Given the description of an element on the screen output the (x, y) to click on. 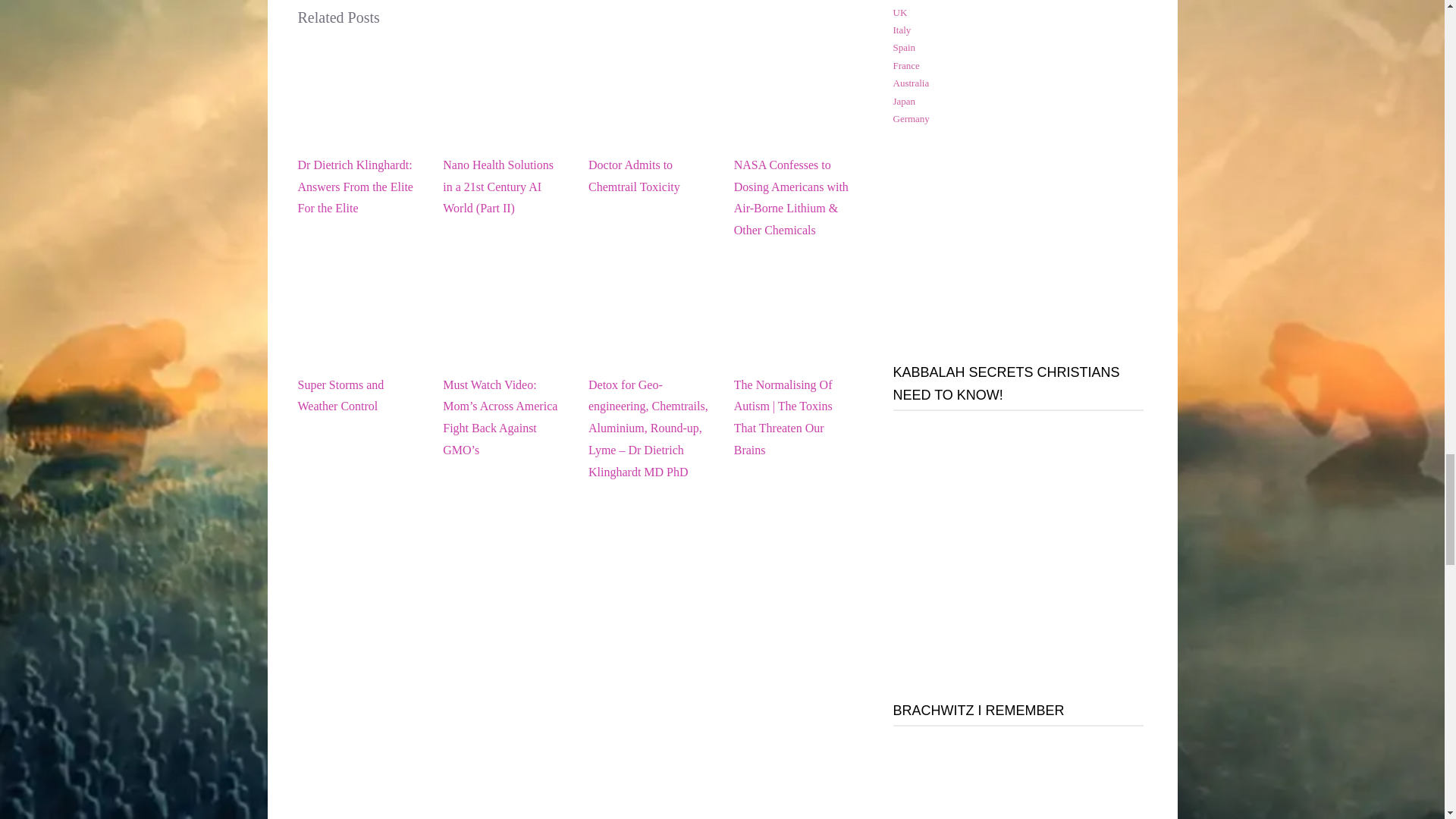
Super Storms and Weather Control (358, 350)
Dr Dietrich Klinghardt: Answers From the Elite For the Elite (358, 130)
Doctor Admits to Chemtrail Toxicity (649, 130)
